Given the description of an element on the screen output the (x, y) to click on. 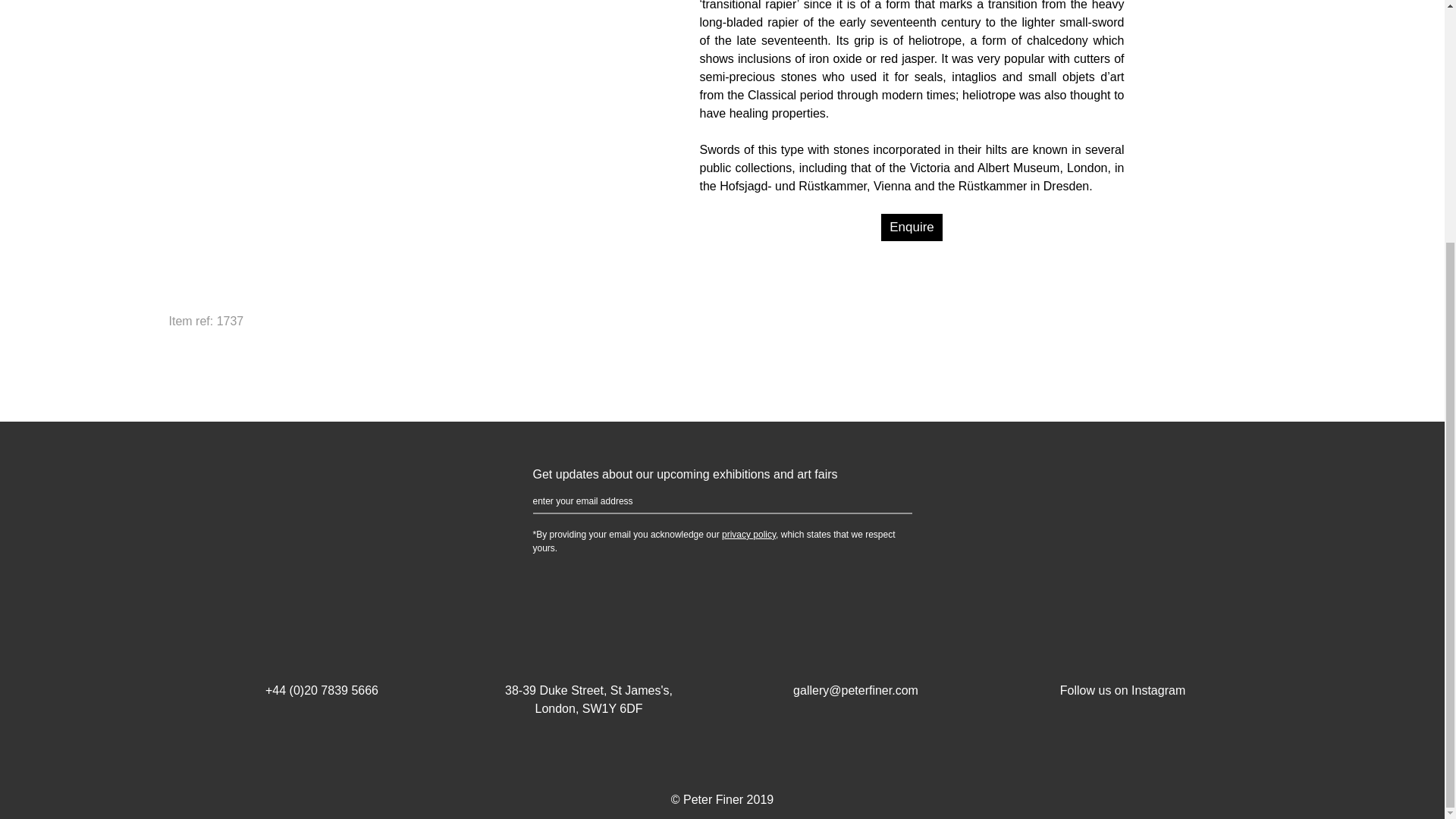
Submit (888, 502)
privacy policy (749, 534)
SW1Y 6DF (612, 707)
Follow us on Instagram (1121, 671)
Enquire (911, 226)
Submit (888, 502)
